Given the description of an element on the screen output the (x, y) to click on. 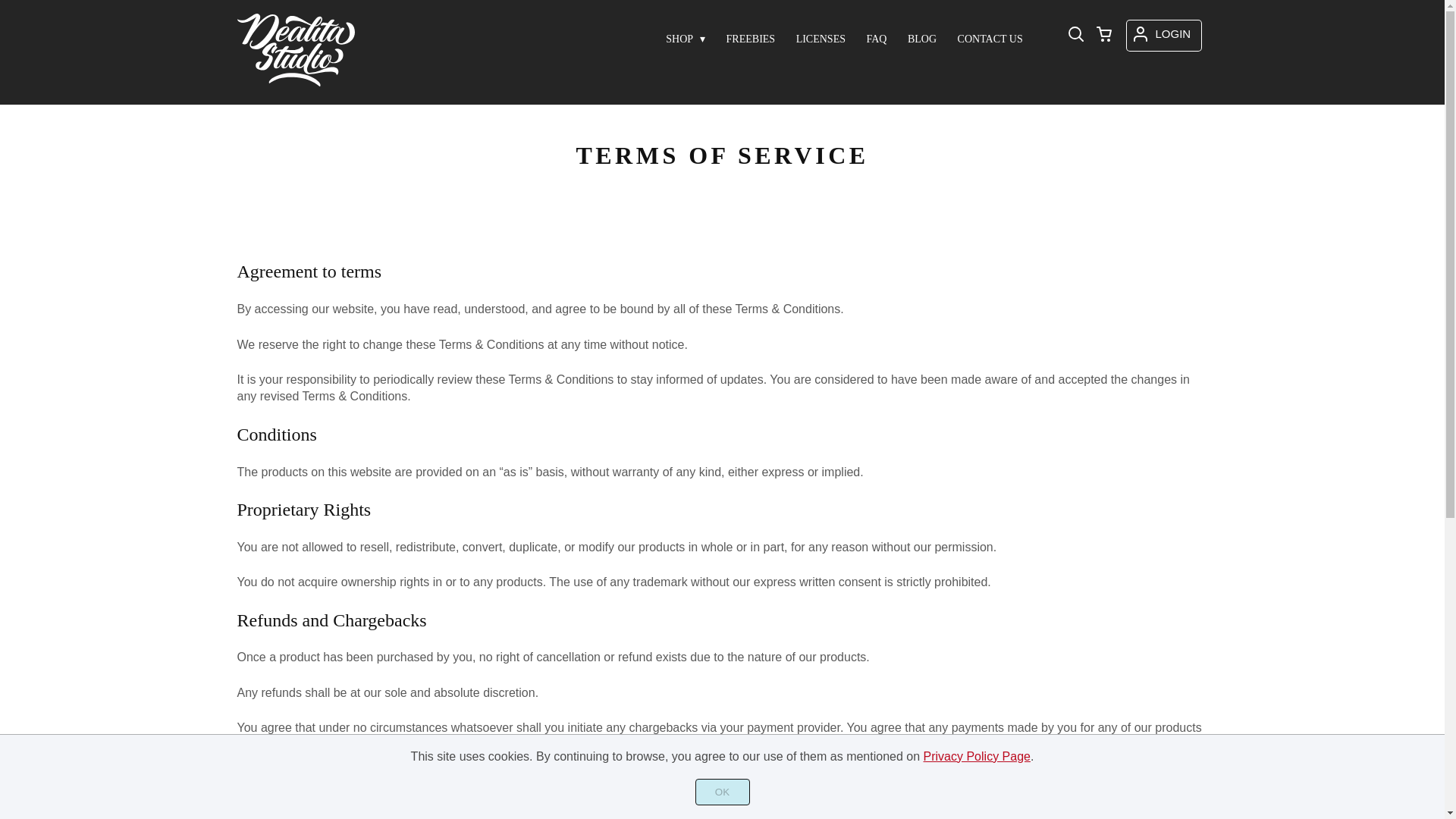
FREEBIES (750, 39)
FAQ (876, 39)
CONTACT US (990, 39)
Open Search Form (1075, 35)
OK (721, 791)
LOGIN (1163, 35)
Privacy Policy Page (976, 756)
BLOG (921, 39)
Login to Customer Account (1163, 35)
Go to Homepage (295, 81)
Go to Privacy Policy Page (976, 756)
Open Shopping Cart (1104, 35)
LICENSES (820, 39)
SHOP (685, 39)
